Given the description of an element on the screen output the (x, y) to click on. 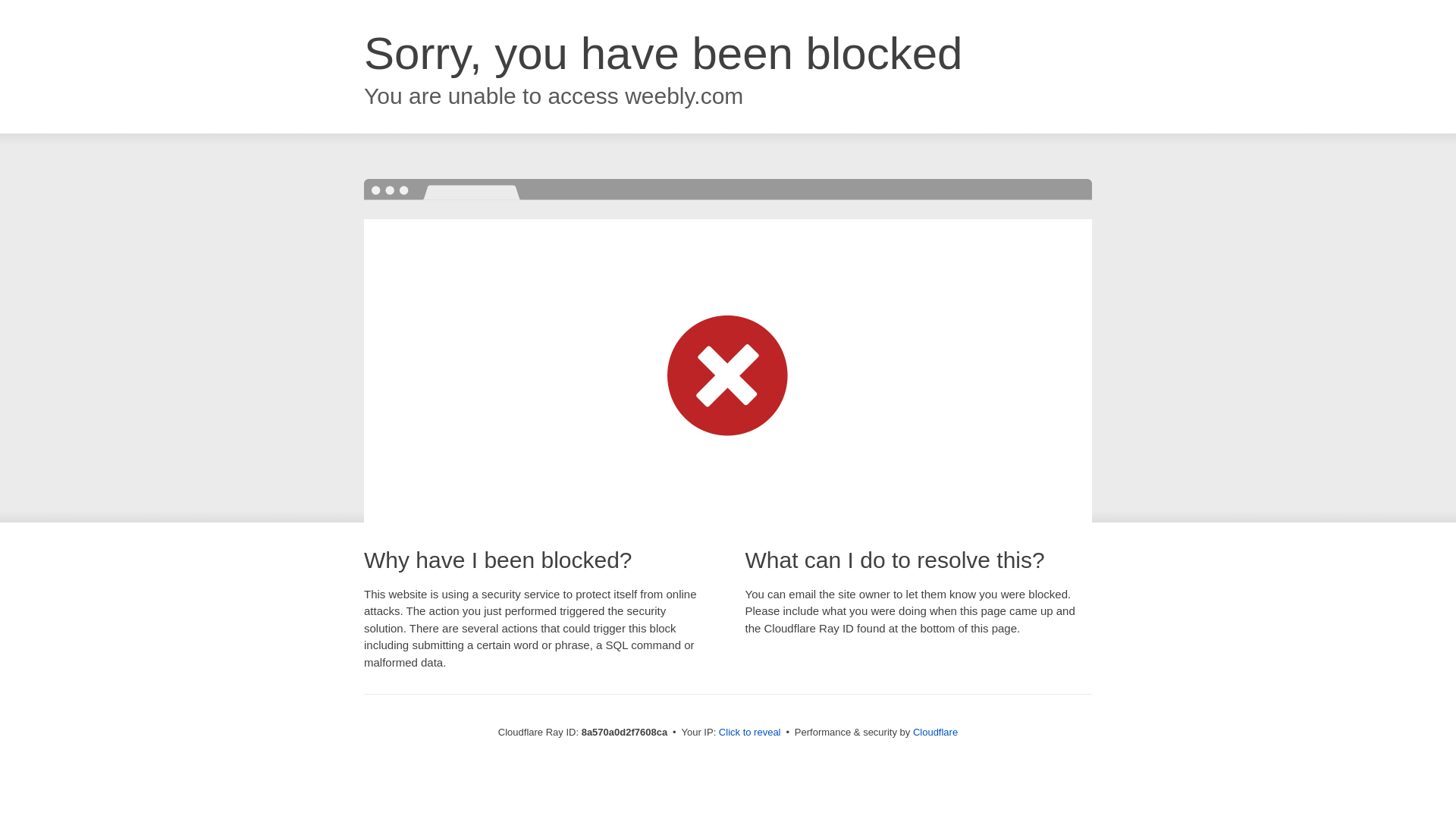
Cloudflare (935, 731)
Click to reveal (749, 732)
